Given the description of an element on the screen output the (x, y) to click on. 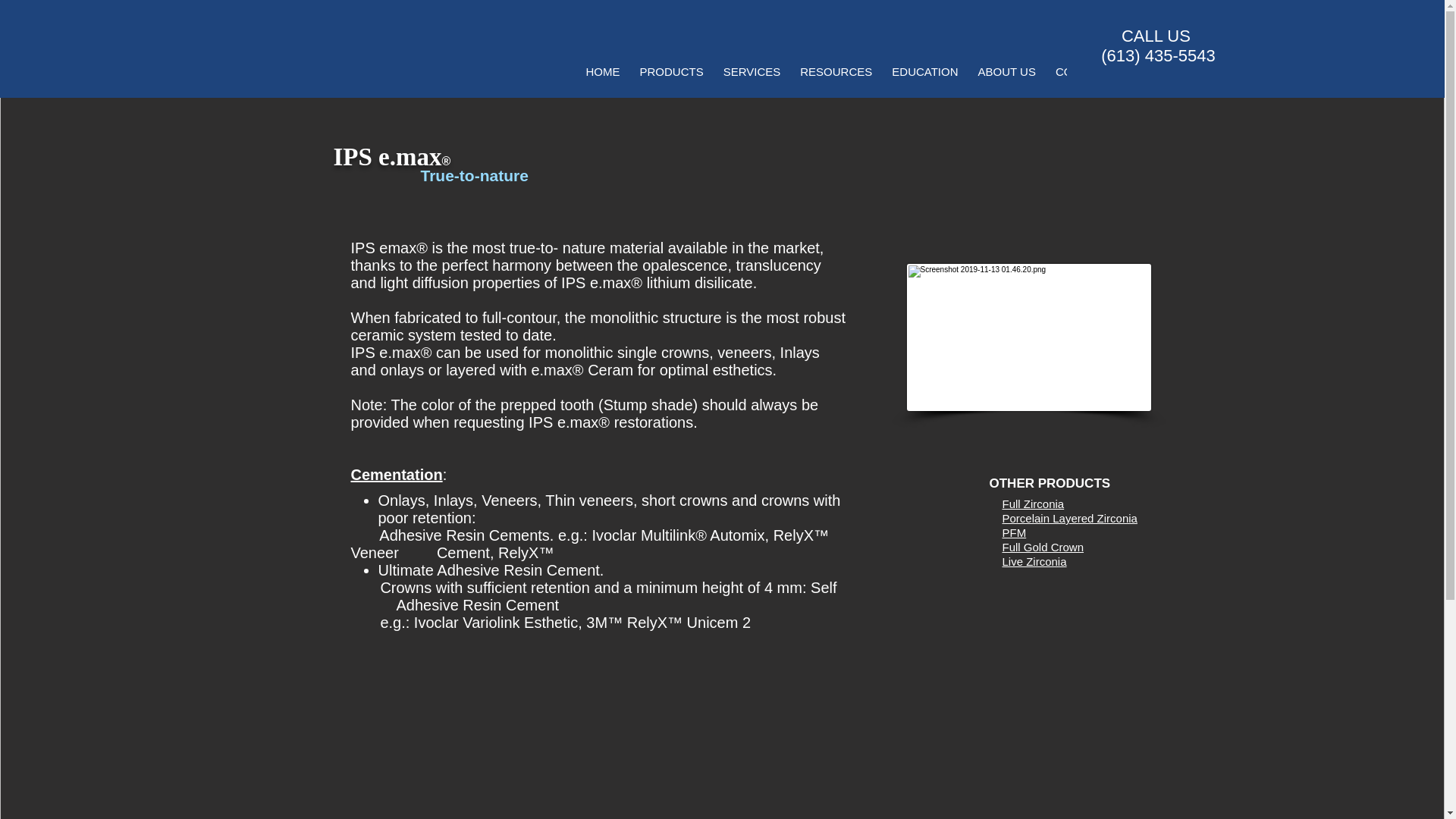
PFM (1014, 532)
Porcelain Layered Zirconia (1070, 517)
CONTACT (1082, 74)
ABOUT US (1006, 74)
RESOURCES (836, 74)
SERVICES (751, 74)
Live Zirconia (1035, 561)
Full Zirconia (1033, 503)
PRODUCTS (670, 74)
EDUCATION (925, 74)
